Given the description of an element on the screen output the (x, y) to click on. 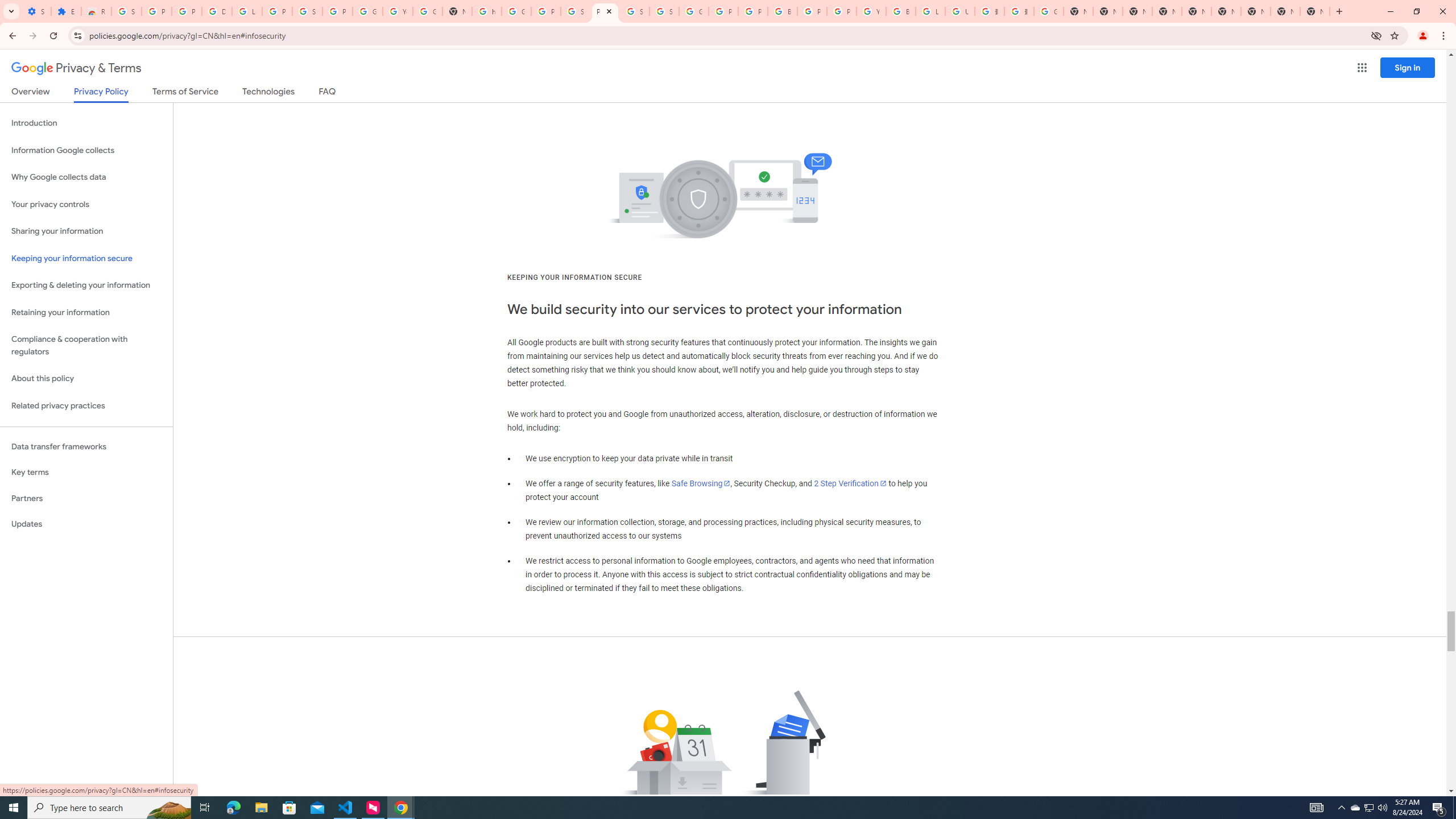
https://scholar.google.com/ (486, 11)
Sign in - Google Accounts (664, 11)
